Given the description of an element on the screen output the (x, y) to click on. 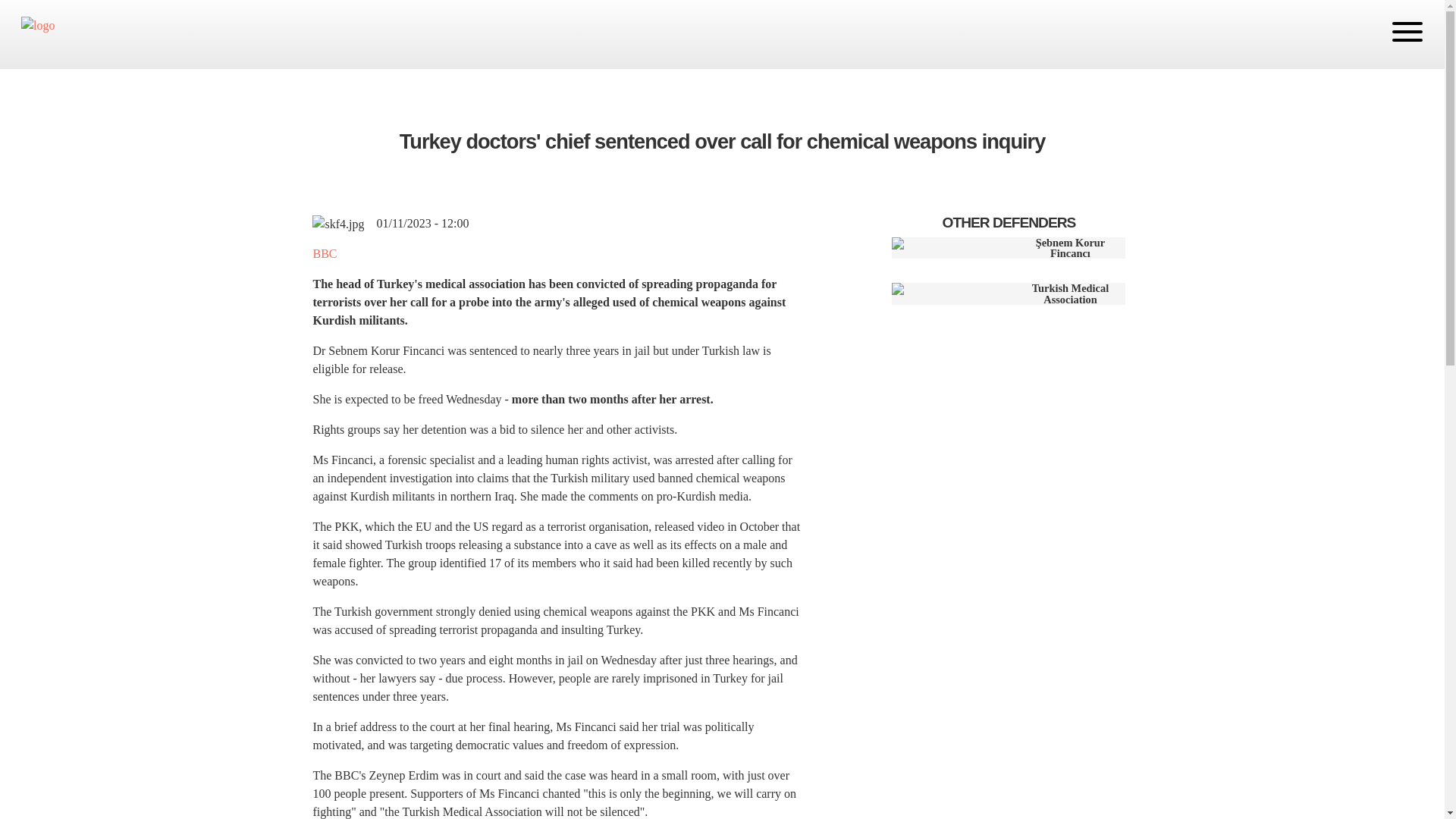
Turkish Medical Association (1008, 293)
BBC  (326, 253)
